Given the description of an element on the screen output the (x, y) to click on. 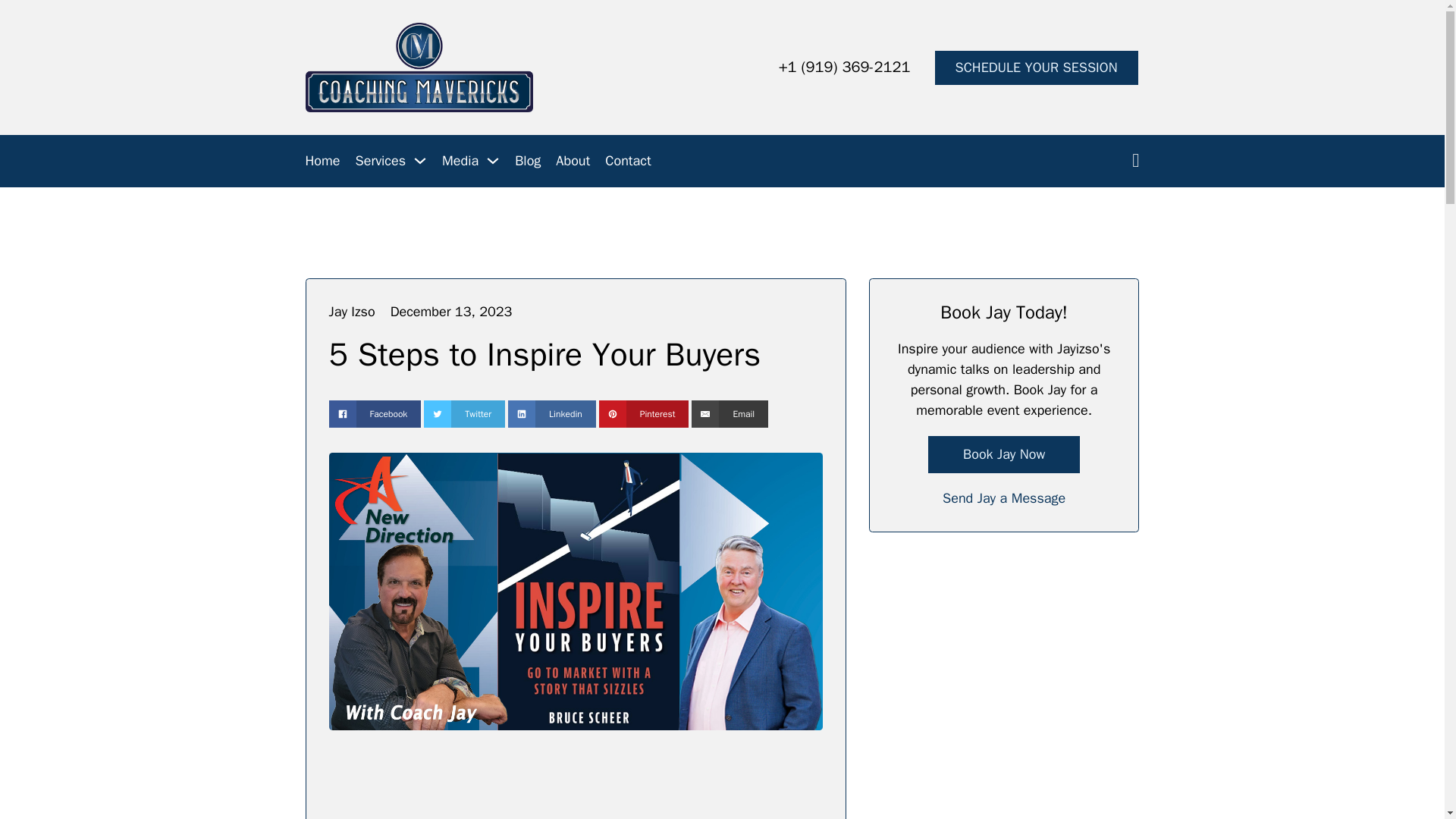
SCHEDULE YOUR SESSION (1036, 67)
Contact (627, 160)
Blubrry Podcast Player (575, 787)
About (572, 160)
Media (460, 160)
Services (380, 160)
Home (321, 160)
Blog (527, 160)
